Given the description of an element on the screen output the (x, y) to click on. 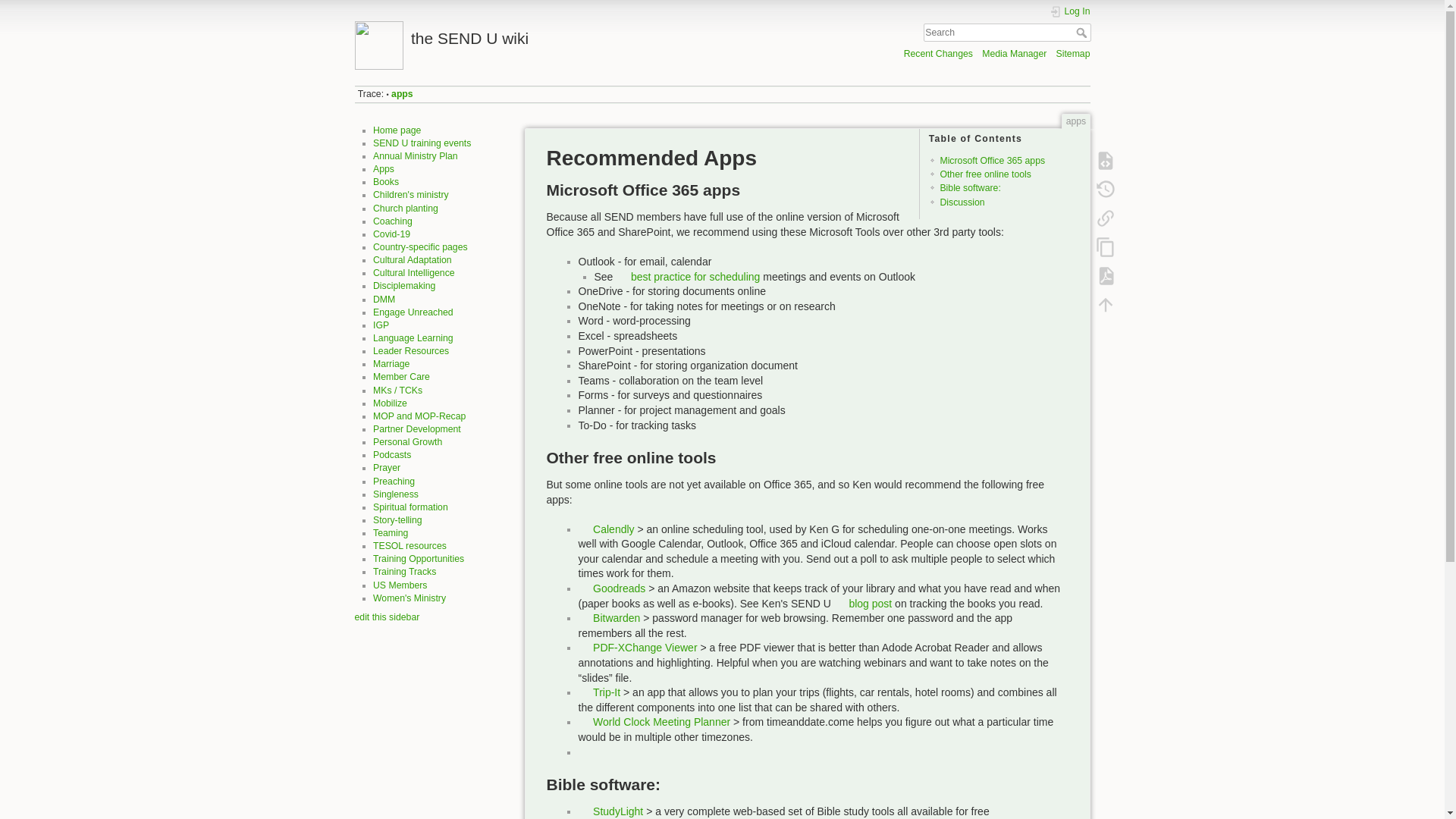
apps (402, 93)
Prayer (386, 467)
IGP (380, 325)
Media Manager (1013, 53)
amp (415, 155)
Annual Ministry Plan (415, 155)
Spiritual formation (410, 507)
Books (385, 181)
Podcasts (391, 454)
apps (383, 168)
